Given the description of an element on the screen output the (x, y) to click on. 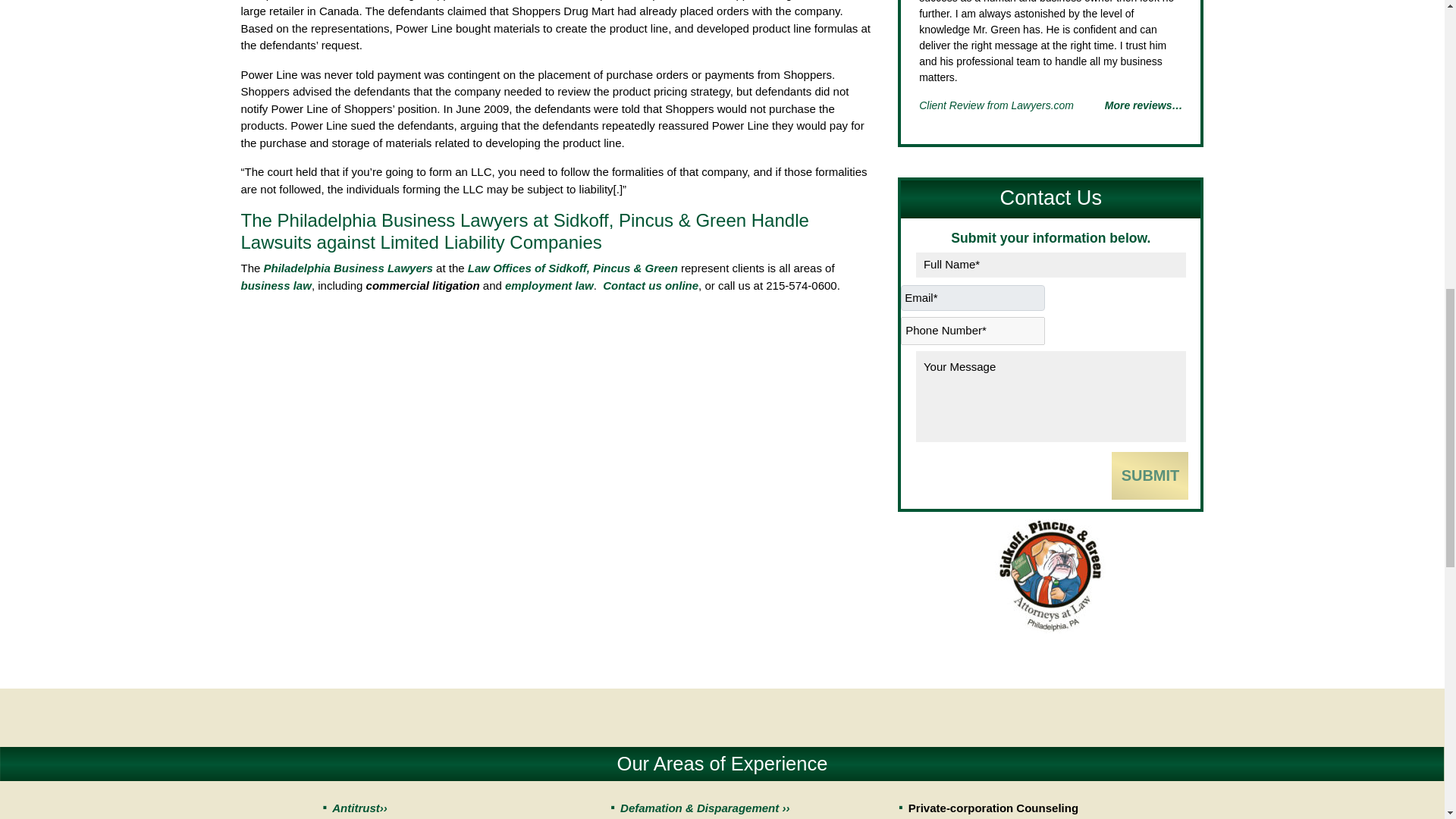
SUBMIT (1150, 475)
